Given the description of an element on the screen output the (x, y) to click on. 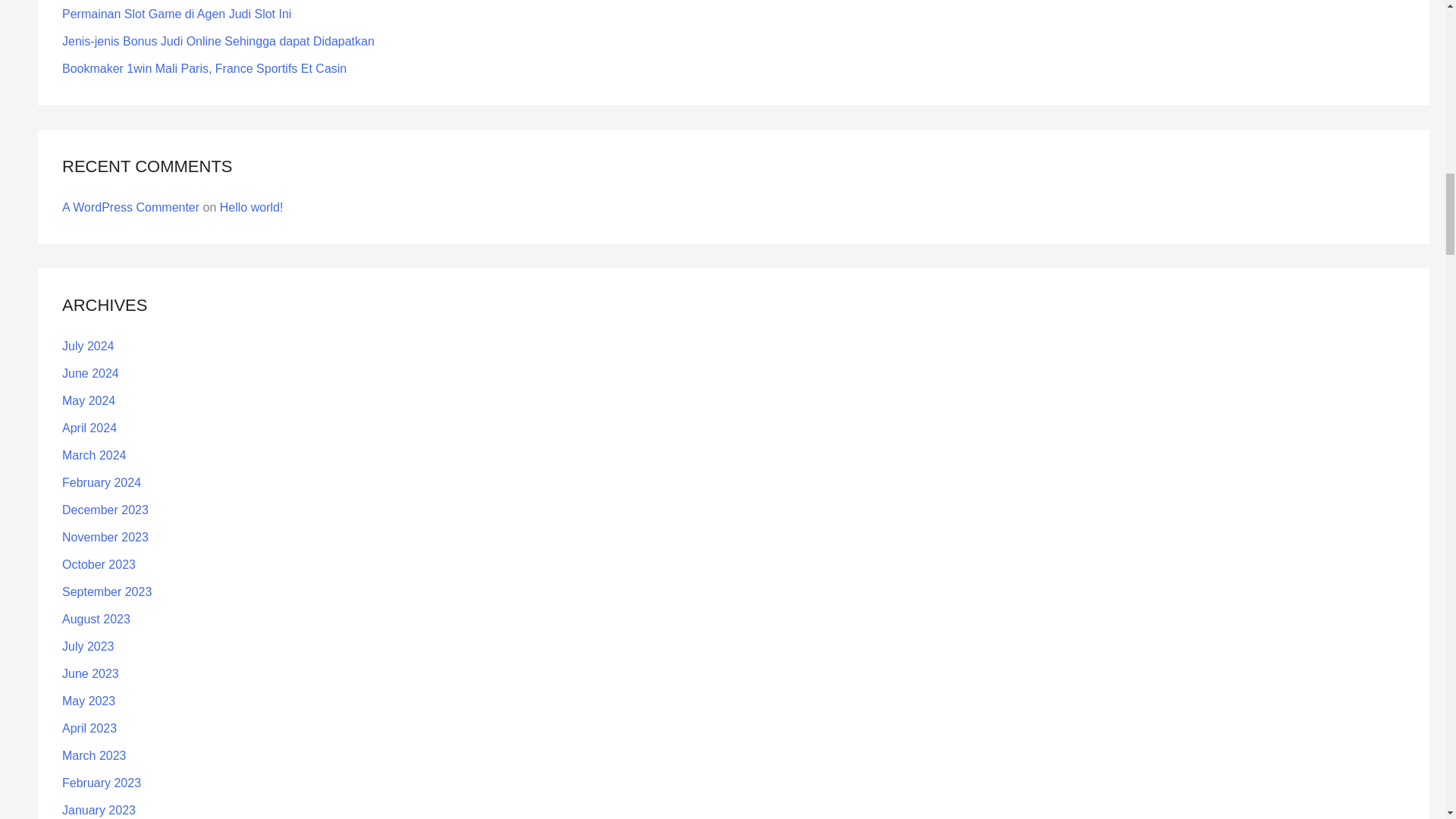
July 2024 (88, 345)
Bookmaker 1win Mali Paris, France Sportifs Et Casin (204, 68)
April 2024 (89, 427)
October 2023 (98, 563)
May 2024 (88, 400)
February 2024 (101, 481)
Permainan Slot Game di Agen Judi Slot Ini (176, 13)
November 2023 (105, 536)
Hello world! (251, 206)
Jenis-jenis Bonus Judi Online Sehingga dapat Didapatkan (218, 41)
A WordPress Commenter (130, 206)
March 2024 (94, 454)
September 2023 (106, 591)
December 2023 (105, 509)
June 2024 (90, 373)
